Given the description of an element on the screen output the (x, y) to click on. 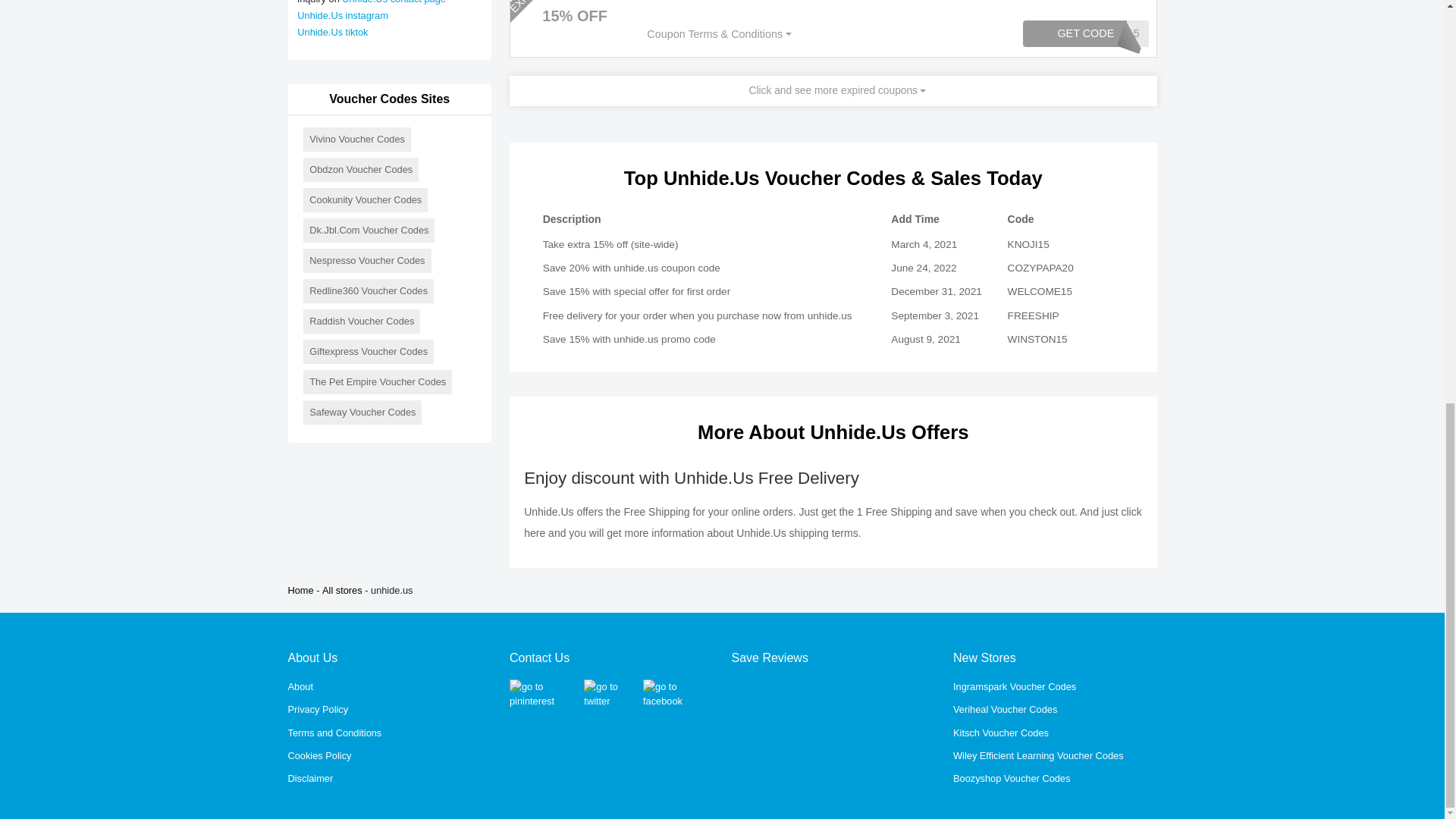
Vivino Voucher Codes (356, 139)
Redline360 Voucher Codes (368, 291)
Giftexpress Voucher Codes (368, 351)
Raddish Voucher Codes (360, 321)
The Pet Empire Voucher Codes (376, 381)
Unhide.Us instagram (342, 15)
Dk.Jbl.Com Voucher Codes (368, 230)
Unhide.Us contact page (393, 2)
Safeway Voucher Codes (361, 412)
Nespresso Voucher Codes (366, 260)
